Given the description of an element on the screen output the (x, y) to click on. 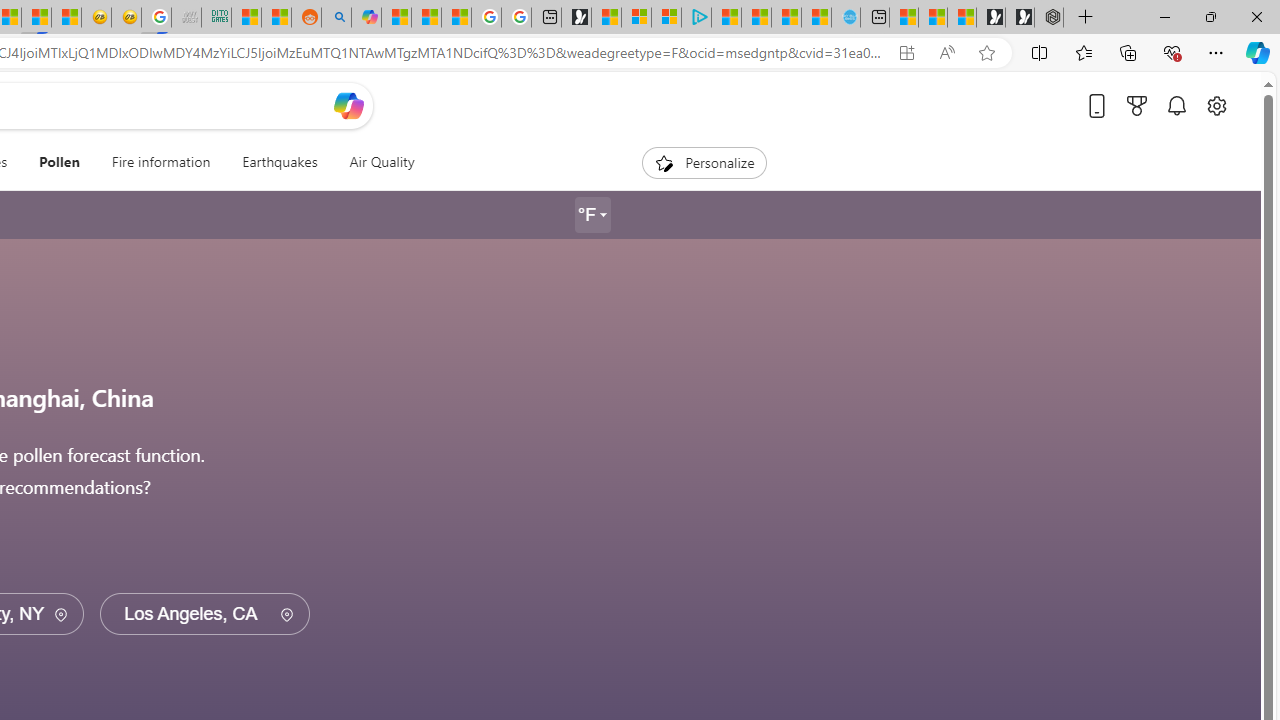
Air Quality (381, 162)
Weather settings (591, 215)
Pollen (59, 162)
